Given the description of an element on the screen output the (x, y) to click on. 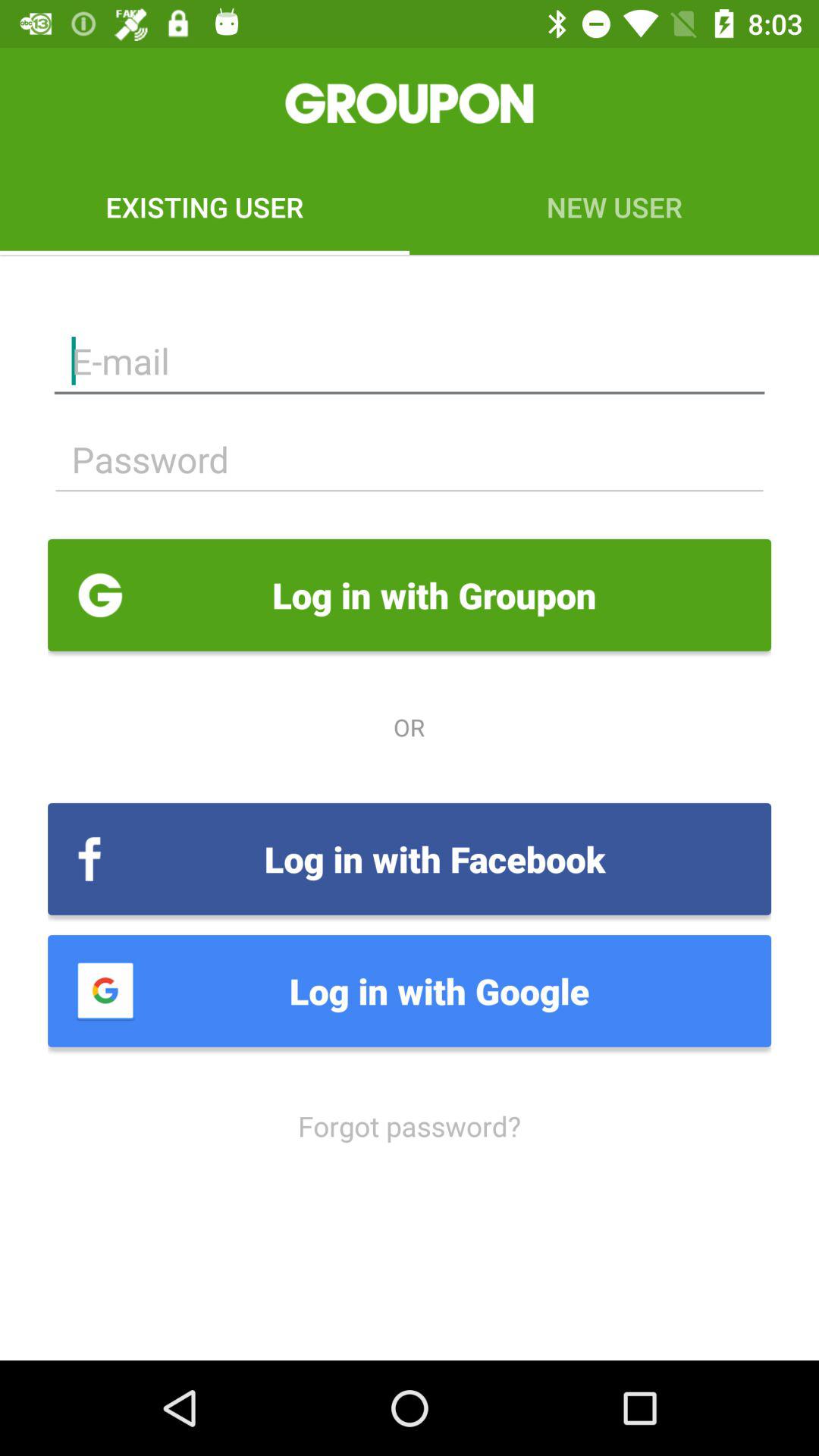
flip until new user (614, 206)
